Given the description of an element on the screen output the (x, y) to click on. 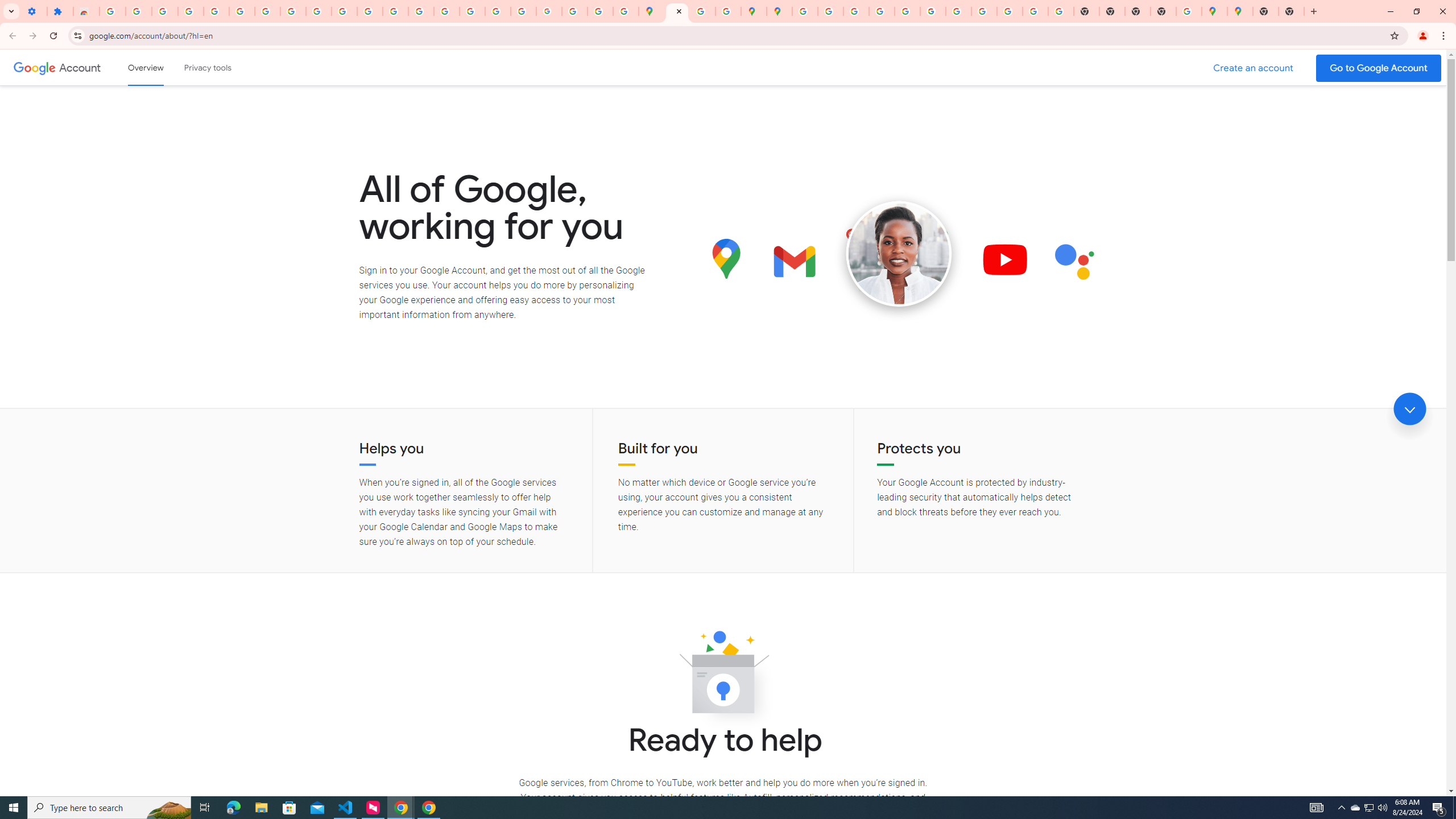
https://scholar.google.com/ (395, 11)
Browse Chrome as a guest - Computer - Google Chrome Help (983, 11)
Privacy Help Center - Policies Help (855, 11)
